Given the description of an element on the screen output the (x, y) to click on. 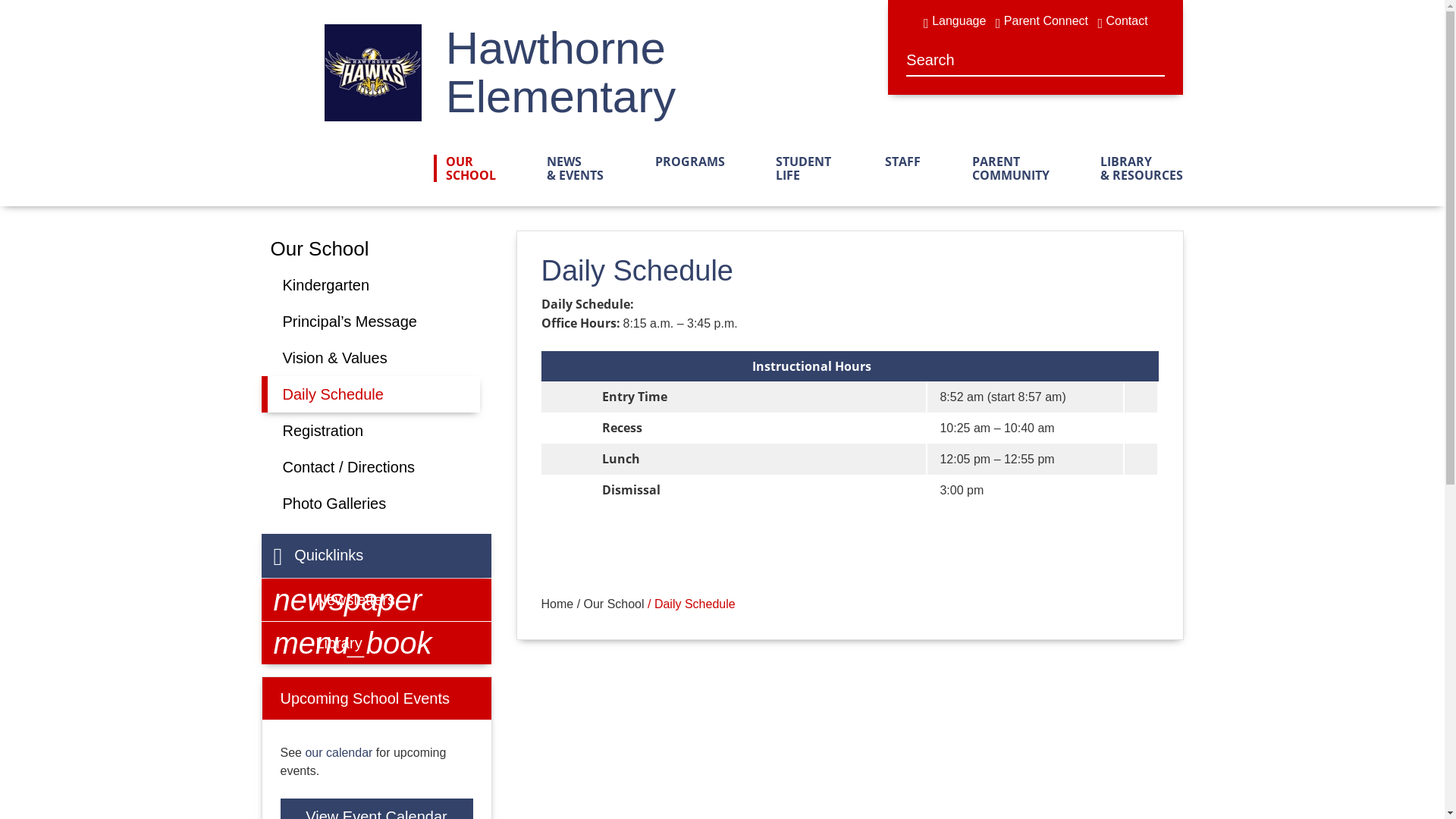
Vision & Values Element type: text (334, 357)
Home / Element type: text (562, 603)
Photo Galleries Element type: text (334, 503)
Search Element type: text (918, 59)
NEWS 
& EVENTS Element type: text (568, 168)
Contact / Directions Element type: text (348, 466)
STAFF Element type: text (896, 161)
PARENT 
COMMUNITY Element type: text (1004, 168)
Daily Schedule Element type: text (369, 394)
PROGRAMS Element type: text (683, 161)
STUDENT 
LIFE Element type: text (798, 168)
Registration Element type: text (322, 430)
our calendar Element type: text (338, 752)
Kindergarten Element type: text (325, 284)
Our School Element type: text (318, 248)
LIBRARY 
& RESOURCES Element type: text (1135, 168)
Our School Element type: text (613, 603)
Hawthorne Elementary Element type: text (666, 72)
OUR 
SCHOOL Element type: text (470, 168)
